Given the description of an element on the screen output the (x, y) to click on. 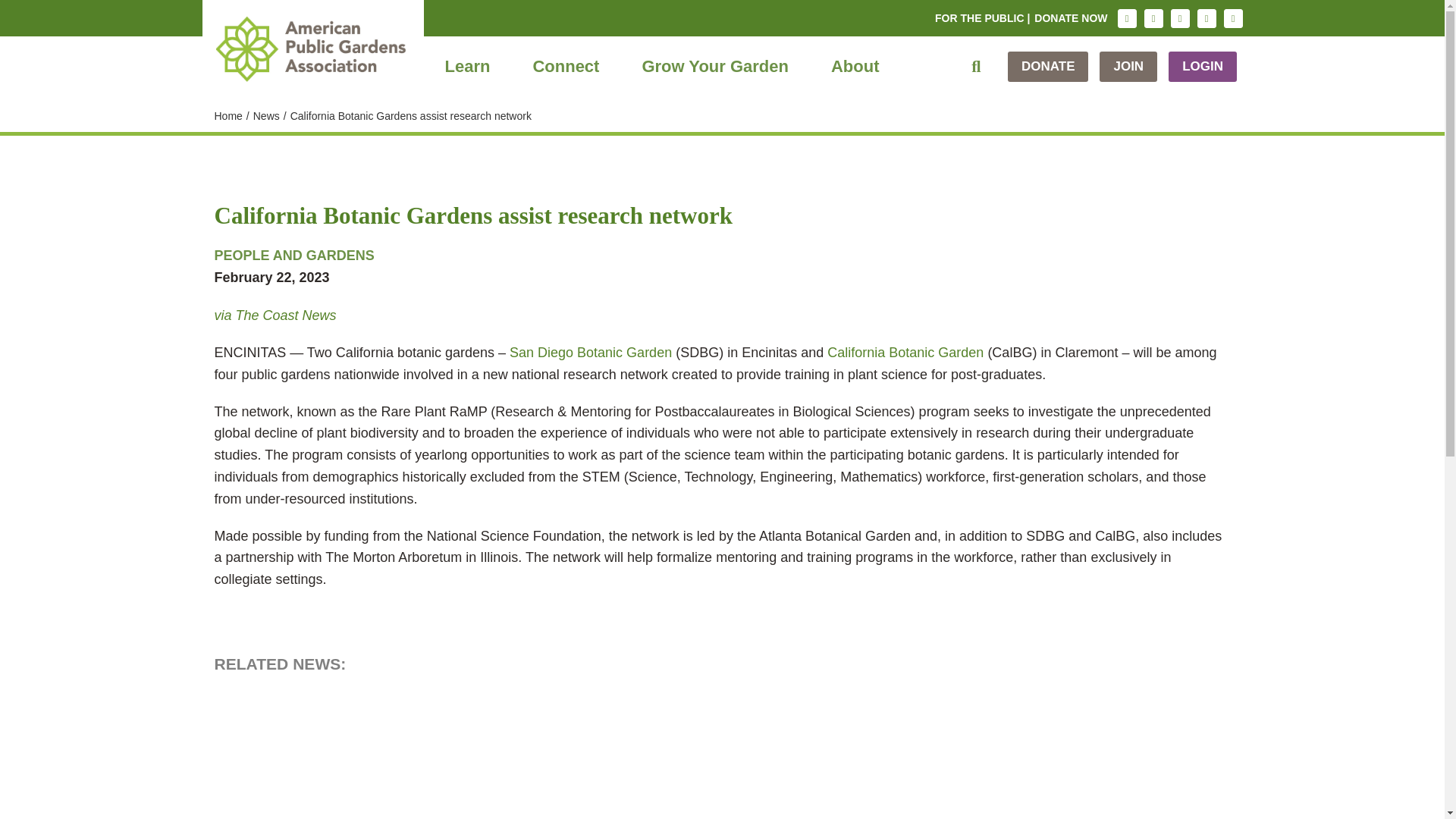
Learn (466, 66)
Connect (565, 66)
Twitter (1179, 18)
Twitter (1179, 18)
Facebook (1151, 18)
LinkedIn (1205, 18)
Grow Your Garden (714, 66)
YouTube (1233, 18)
Instagram (1127, 18)
DONATE NOW (1070, 18)
